Given the description of an element on the screen output the (x, y) to click on. 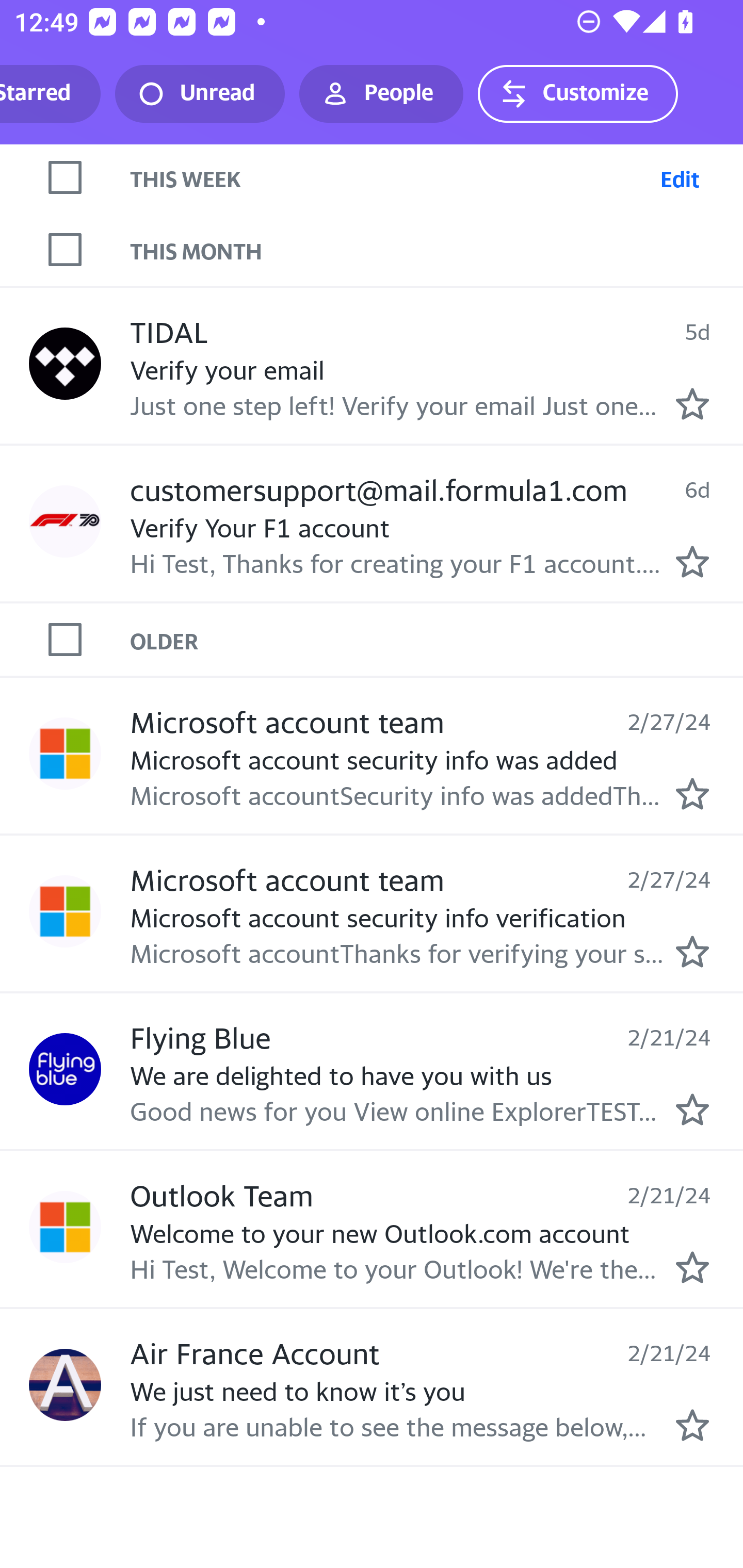
Unread (199, 93)
People (381, 93)
Customize (577, 93)
THIS MONTH (436, 249)
Profile
TIDAL (64, 363)
Mark as starred. (692, 403)
Profile
customersupport@mail.formula1.com (64, 522)
Mark as starred. (692, 562)
OLDER (436, 638)
Profile
Microsoft account team (64, 754)
Mark as starred. (692, 794)
Profile
Microsoft account team (64, 910)
Mark as starred. (692, 950)
Profile
Flying Blue (64, 1069)
Mark as starred. (692, 1109)
Profile
Outlook Team (64, 1227)
Mark as starred. (692, 1267)
Profile
Air France Account (64, 1384)
Mark as starred. (692, 1424)
